Given the description of an element on the screen output the (x, y) to click on. 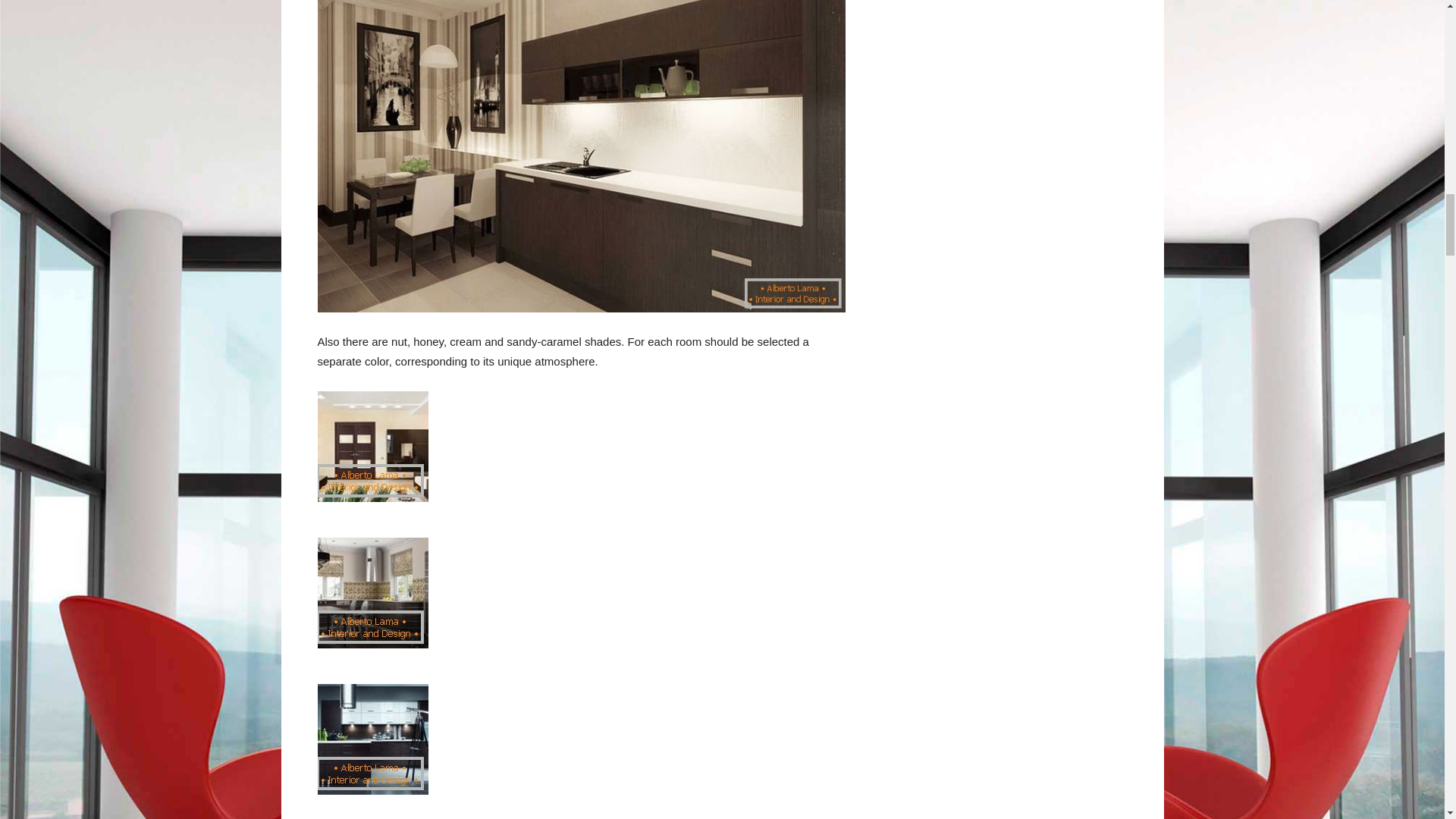
Telescope in the interior (372, 738)
Built-in ceiling lights (372, 446)
Dark furniture in the kitchen (372, 592)
